Given the description of an element on the screen output the (x, y) to click on. 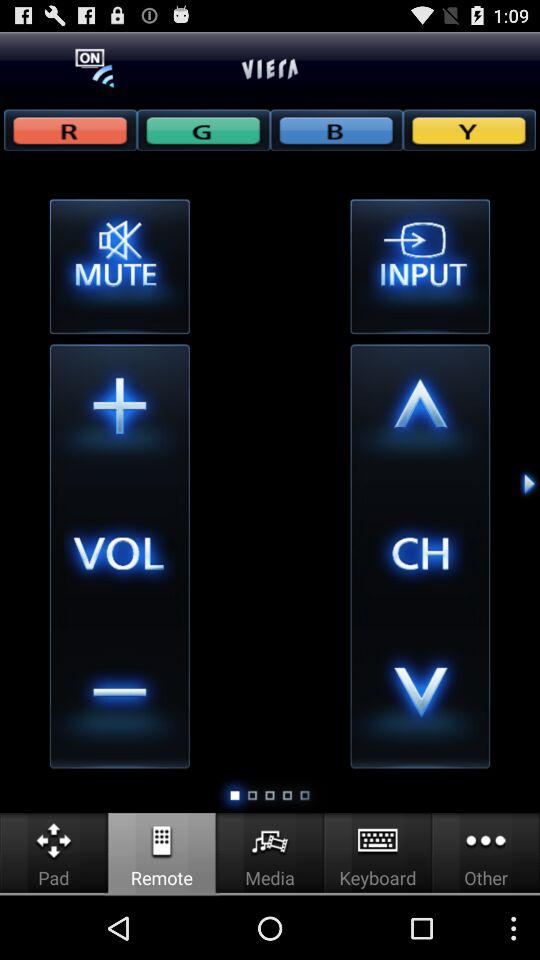
r button (70, 129)
